Given the description of an element on the screen output the (x, y) to click on. 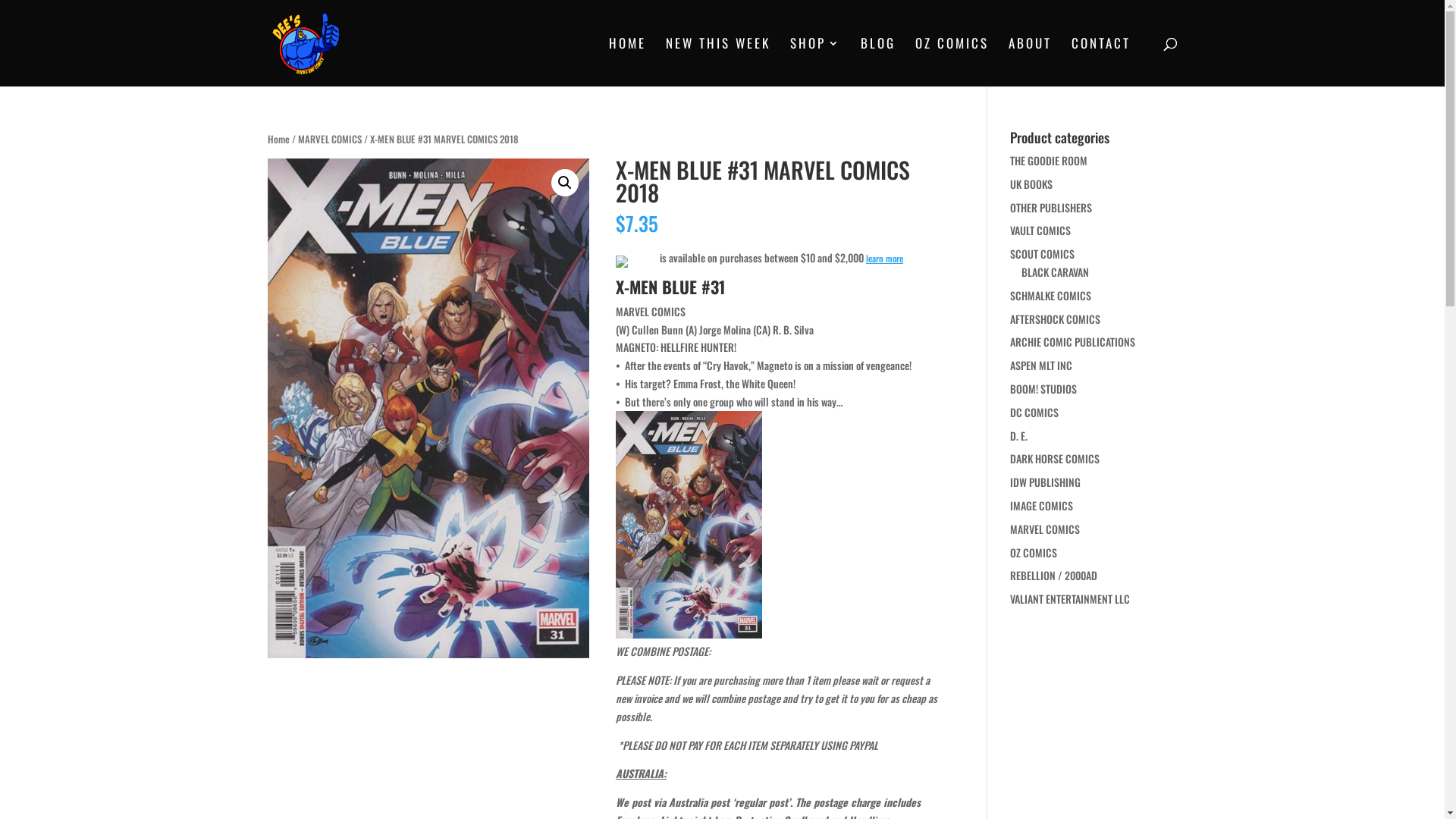
X BLUE 31 Element type: hover (427, 408)
OZ COMICS Element type: text (1033, 552)
MARVEL COMICS Element type: text (1044, 528)
IMAGE COMICS Element type: text (1041, 505)
UK BOOKS Element type: text (1031, 183)
BLOG Element type: text (876, 61)
OTHER PUBLISHERS Element type: text (1051, 207)
D. E. Element type: text (1018, 435)
THE GOODIE ROOM Element type: text (1048, 160)
AFTERSHOCK COMICS Element type: text (1055, 318)
VALIANT ENTERTAINMENT LLC Element type: text (1069, 598)
ABOUT Element type: text (1029, 61)
DC COMICS Element type: text (1034, 412)
SHOP Element type: text (815, 61)
ASPEN MLT INC Element type: text (1041, 365)
NEW THIS WEEK Element type: text (717, 61)
SCOUT COMICS Element type: text (1042, 253)
VAULT COMICS Element type: text (1040, 230)
BLACK CARAVAN Element type: text (1054, 271)
DARK HORSE COMICS Element type: text (1054, 458)
Home Element type: text (277, 138)
OZ COMICS Element type: text (951, 61)
MARVEL COMICS Element type: text (328, 138)
learn more Element type: text (884, 257)
BOOM! STUDIOS Element type: text (1043, 388)
ARCHIE COMIC PUBLICATIONS Element type: text (1072, 341)
SCHMALKE COMICS Element type: text (1050, 295)
HOME Element type: text (626, 61)
REBELLION / 2000AD Element type: text (1053, 575)
CONTACT Element type: text (1099, 61)
IDW PUBLISHING Element type: text (1045, 481)
